Given the description of an element on the screen output the (x, y) to click on. 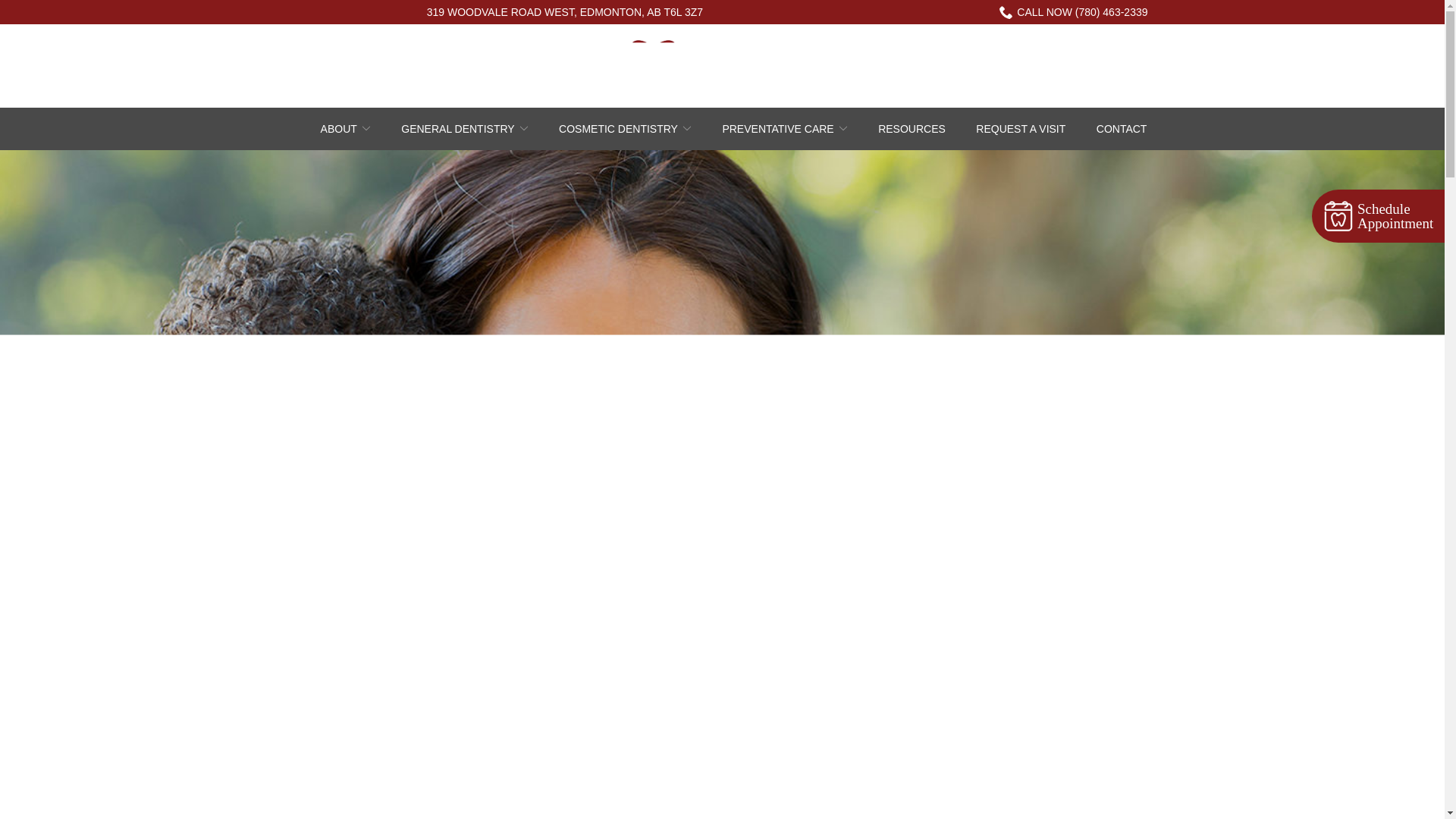
COSMETIC DENTISTRY (625, 128)
319 WOODVALE ROAD WEST, EDMONTON, AB T6L 3Z7 (564, 12)
GENERAL DENTISTRY (464, 128)
ABOUT (345, 128)
